Given the description of an element on the screen output the (x, y) to click on. 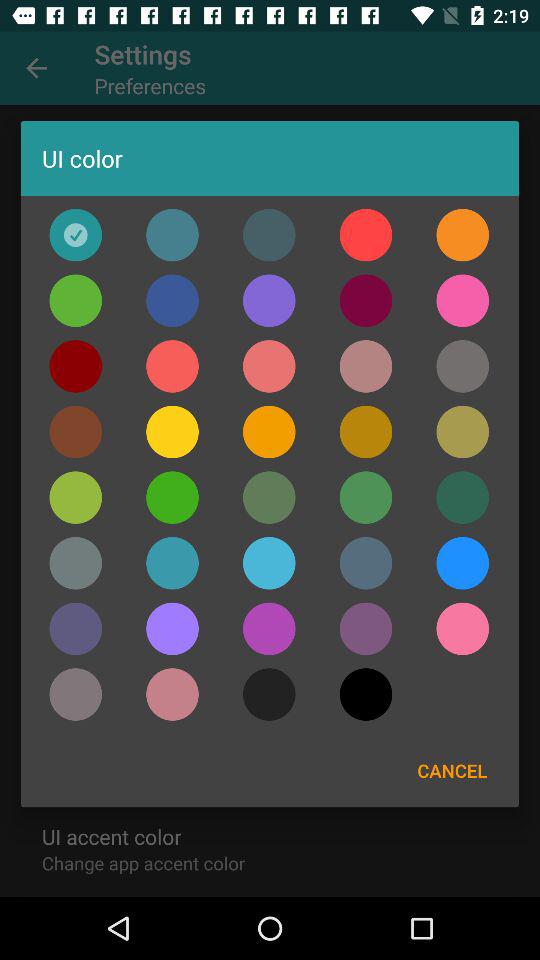
select color options (462, 366)
